Given the description of an element on the screen output the (x, y) to click on. 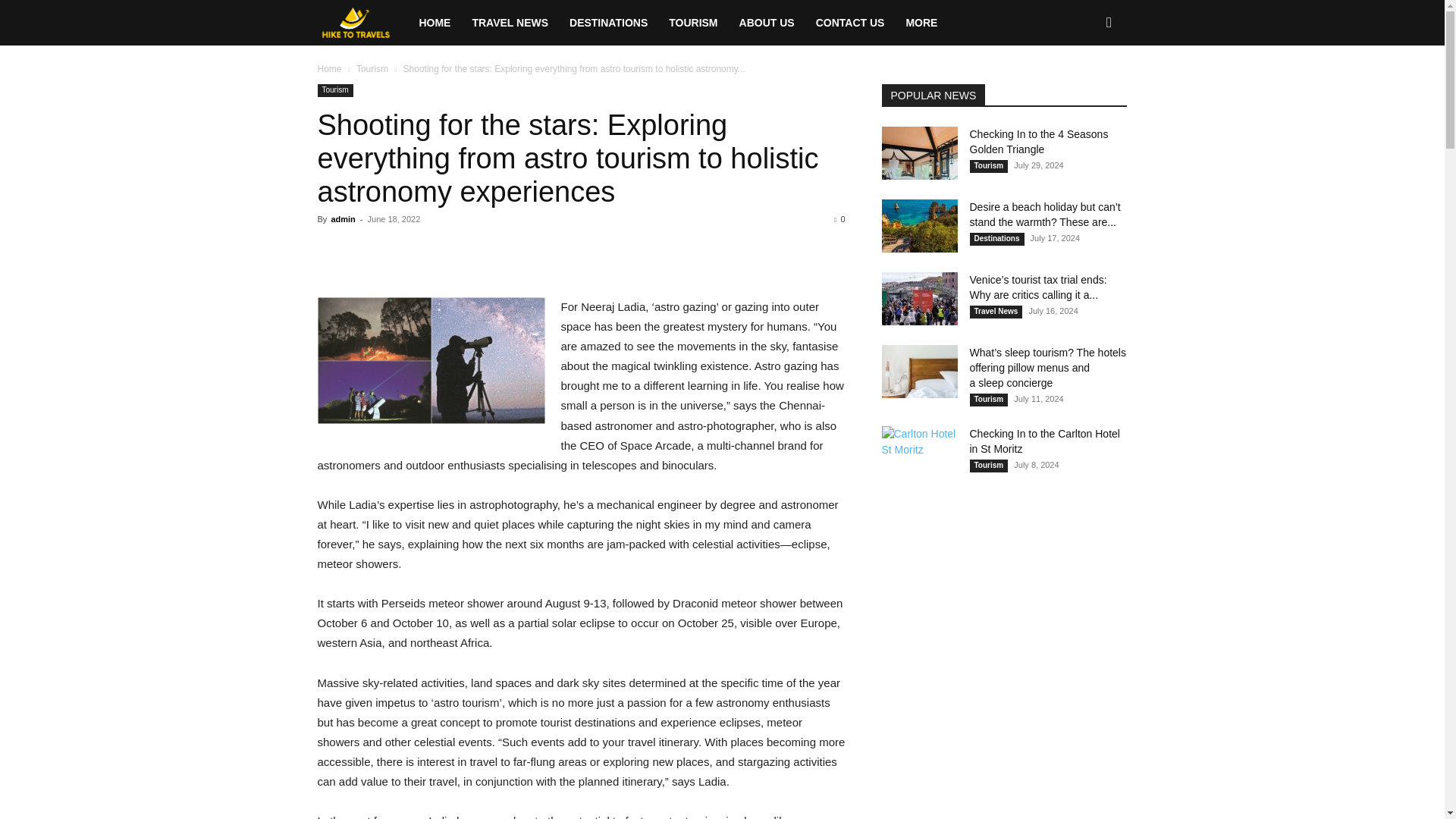
Tourism (372, 68)
MORE (921, 22)
HOME (434, 22)
Home (328, 68)
Tourism (334, 90)
Hike To Travels (362, 22)
Search (1085, 87)
View all posts in Tourism (372, 68)
DESTINATIONS (608, 22)
TRAVEL NEWS (510, 22)
0 (839, 218)
ABOUT US (767, 22)
TOURISM (693, 22)
CONTACT US (850, 22)
